Given the description of an element on the screen output the (x, y) to click on. 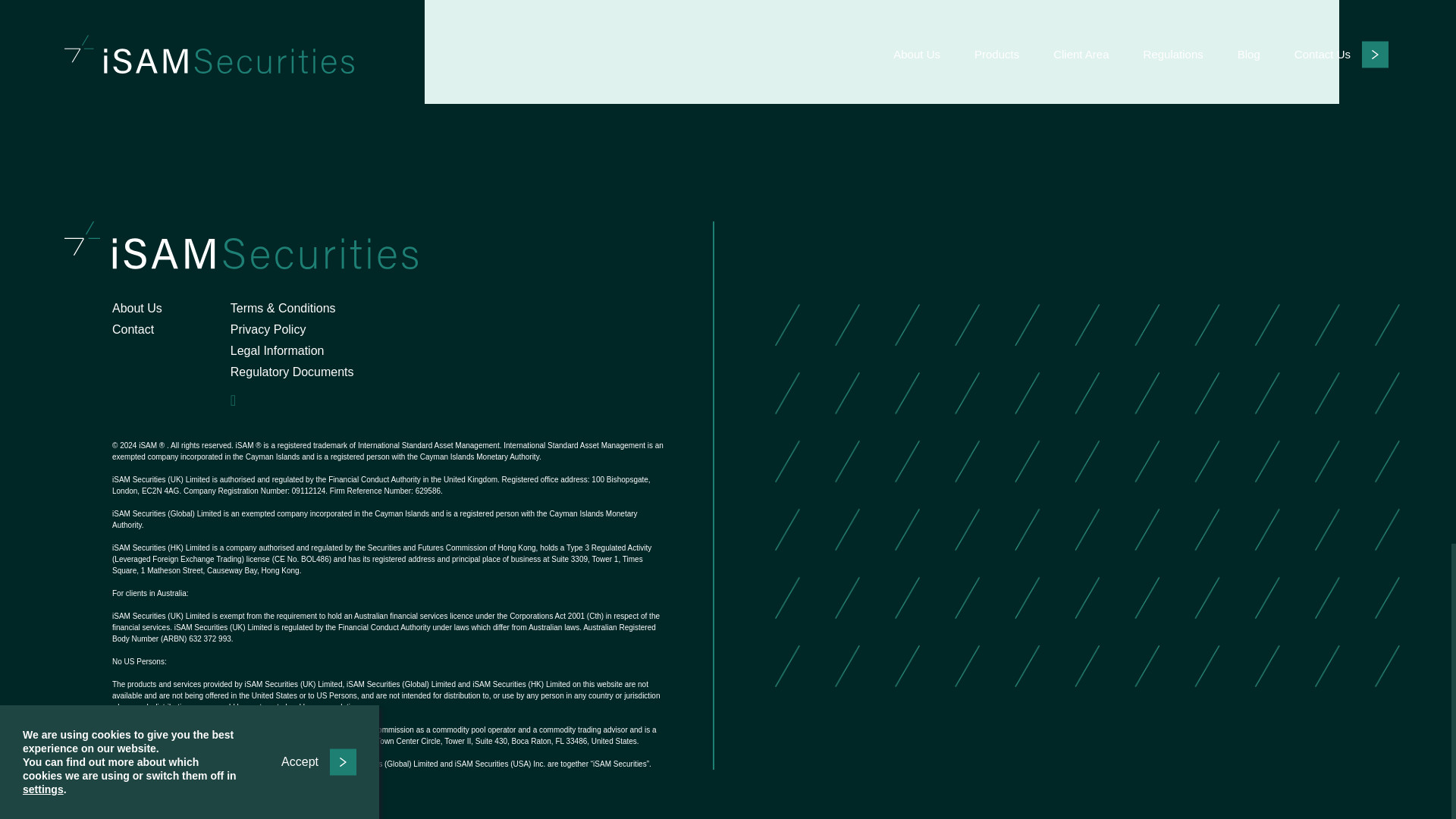
Privacy Policy (267, 328)
Regulatory Documents (291, 371)
Legal Information (277, 350)
About Us (136, 308)
Contact (133, 328)
